Given the description of an element on the screen output the (x, y) to click on. 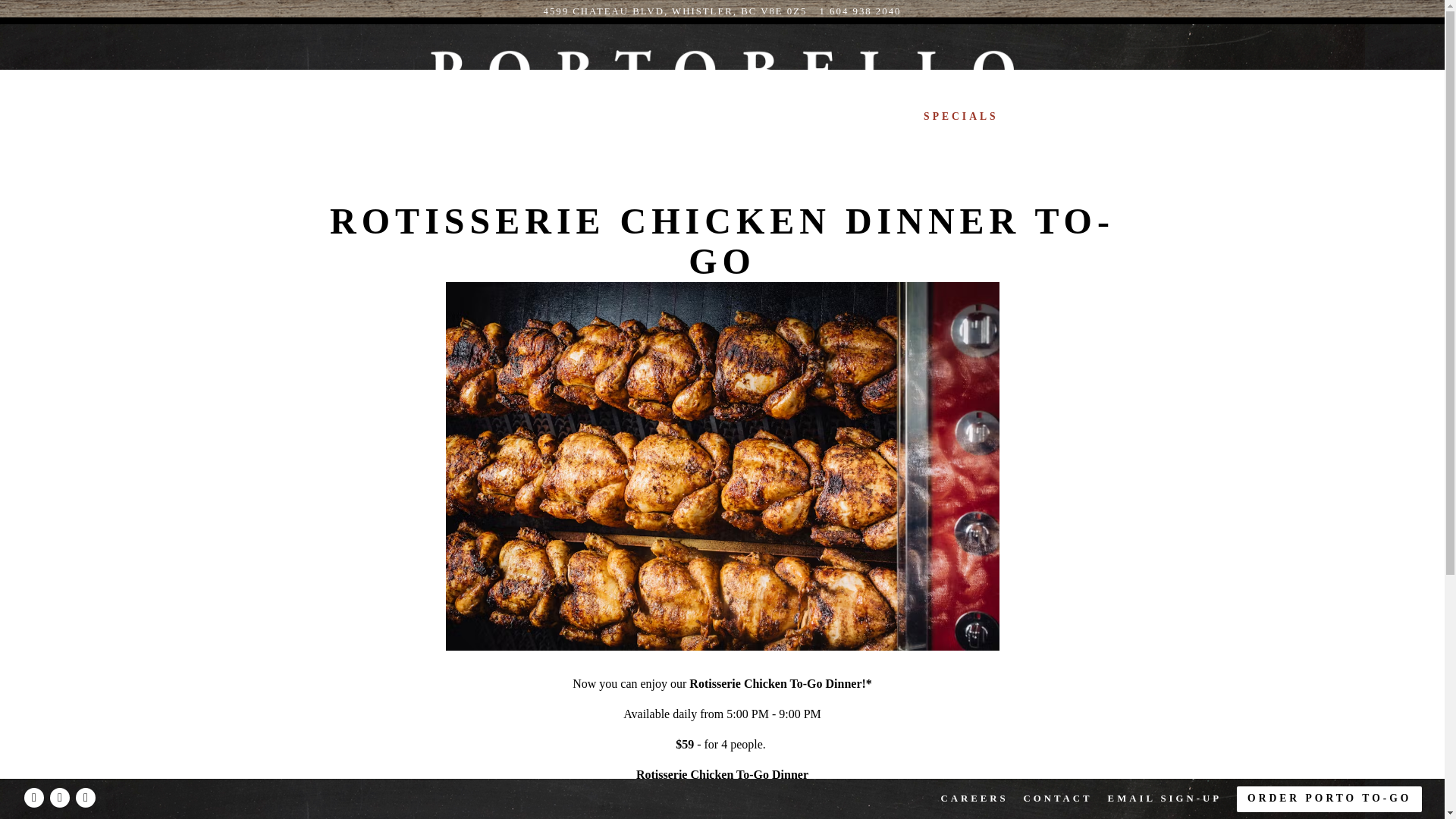
ABOUT US (654, 117)
Instagram (85, 797)
1 604 938 2040 (859, 11)
Facebook (33, 797)
Twitter (59, 797)
ORDER PORTO TO-GO (1329, 799)
PRIVATE EVENTS (841, 117)
CAREERS (974, 798)
CONTACT (1057, 798)
4599 CHATEAU BLVD, WHISTLER, BC V8E 0Z5 (675, 11)
